Given the description of an element on the screen output the (x, y) to click on. 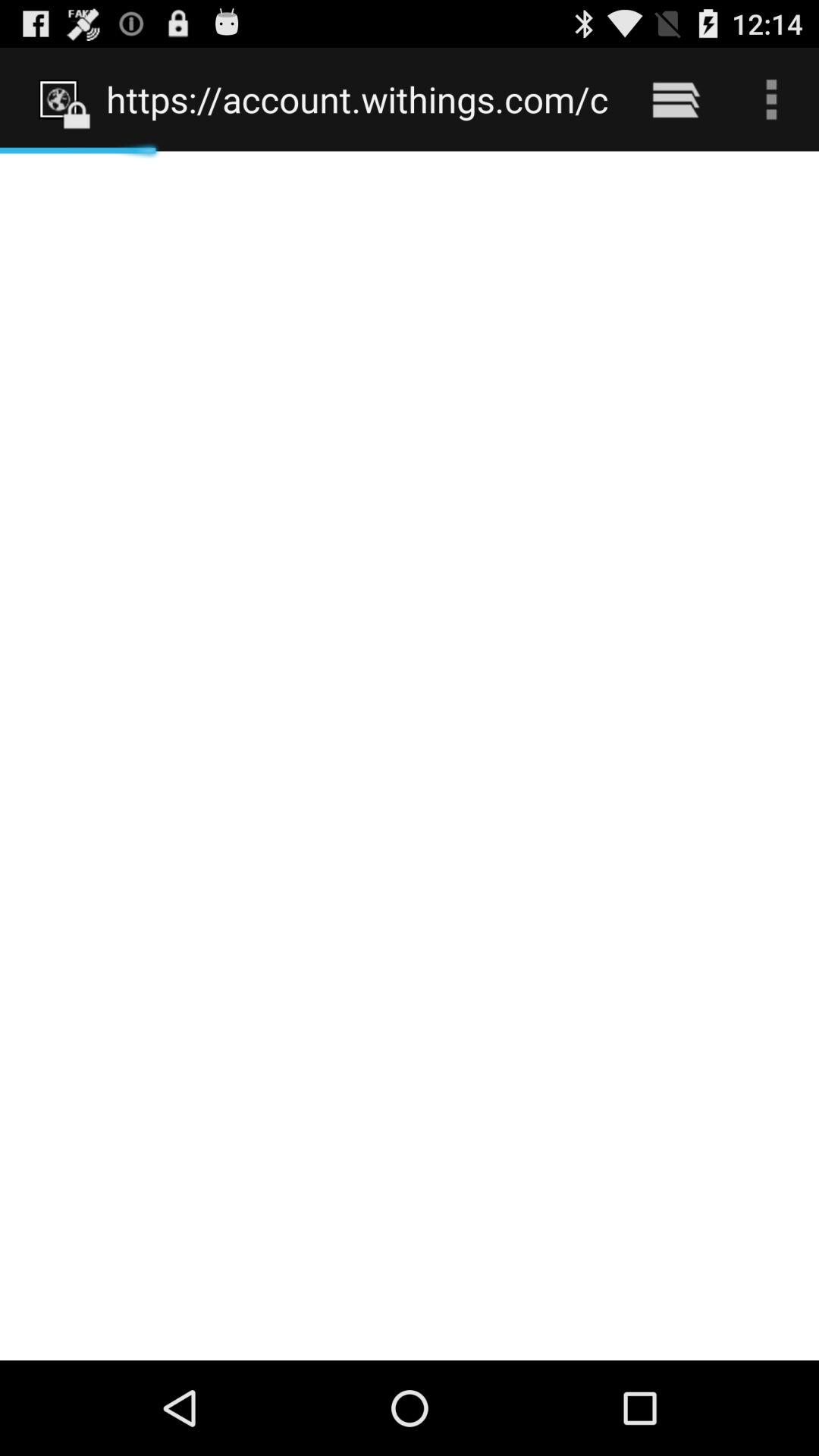
turn off the item below the https account withings icon (409, 755)
